Given the description of an element on the screen output the (x, y) to click on. 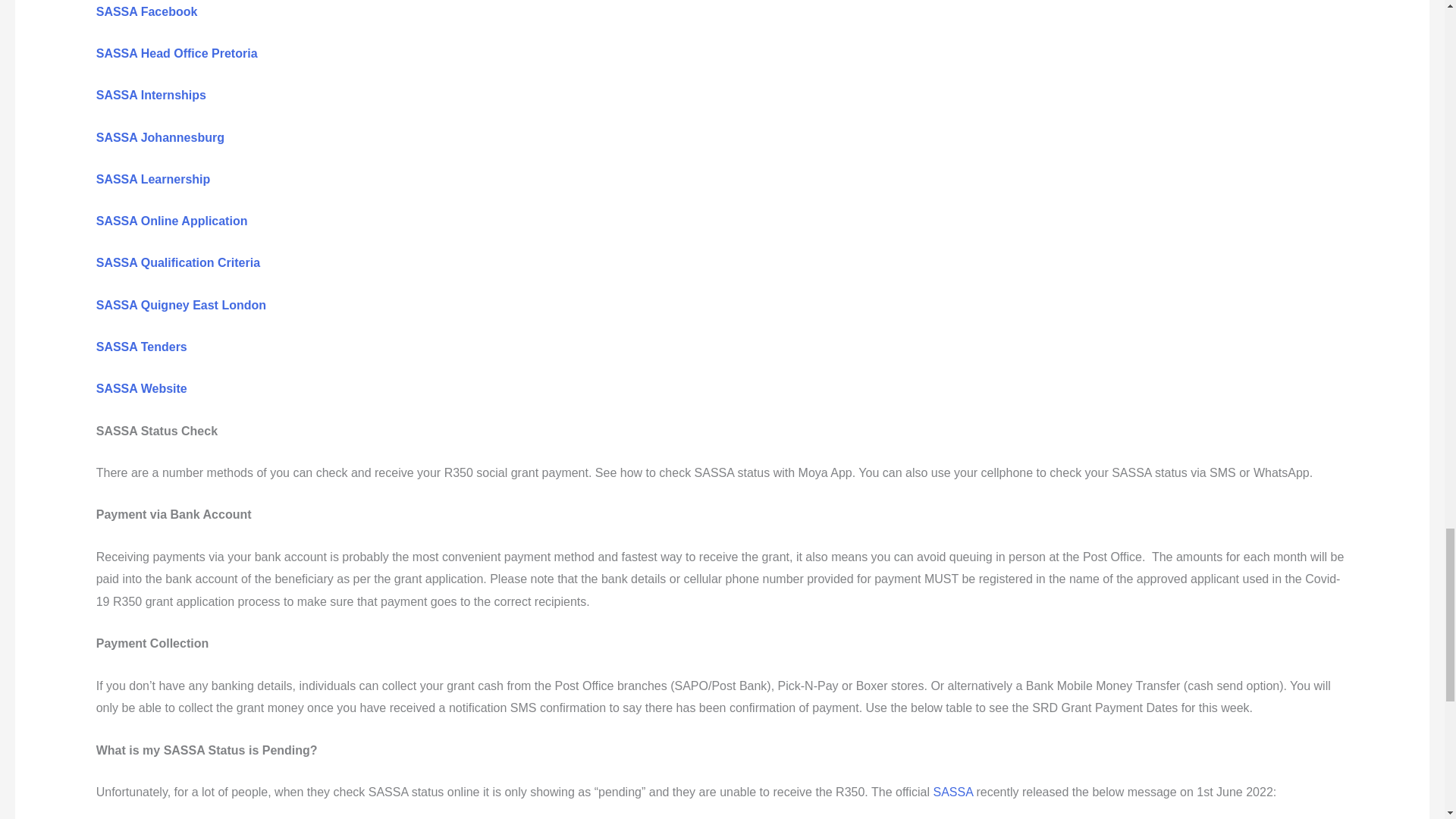
SASSA Online Application (171, 220)
SASSA Qualification Criteria (178, 262)
SASSA Learnership (153, 178)
SASSA Johannesburg (160, 137)
SASSA Internships (151, 94)
SASSA Head Office Pretoria (176, 52)
SASSA Facebook (147, 11)
